Given the description of an element on the screen output the (x, y) to click on. 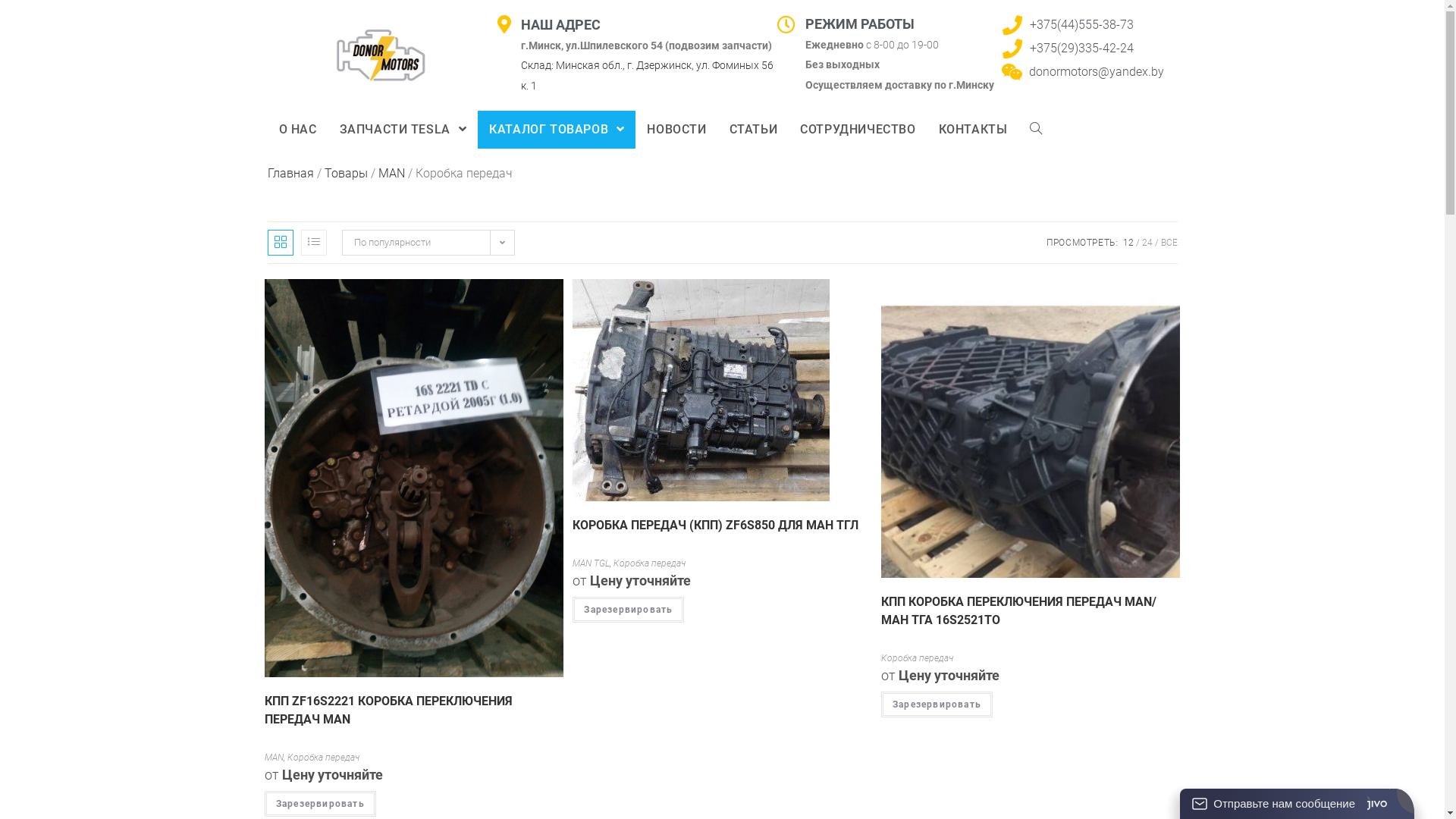
MAN Element type: text (390, 173)
24 Element type: text (1147, 242)
MAN TGL Element type: text (590, 563)
donormotors@yandex.by Element type: text (1096, 71)
+375(29)335-42-24 Element type: text (1081, 47)
MAN Element type: text (273, 757)
12 Element type: text (1127, 242)
+375(44)555-38-73 Element type: text (1081, 24)
